Given the description of an element on the screen output the (x, y) to click on. 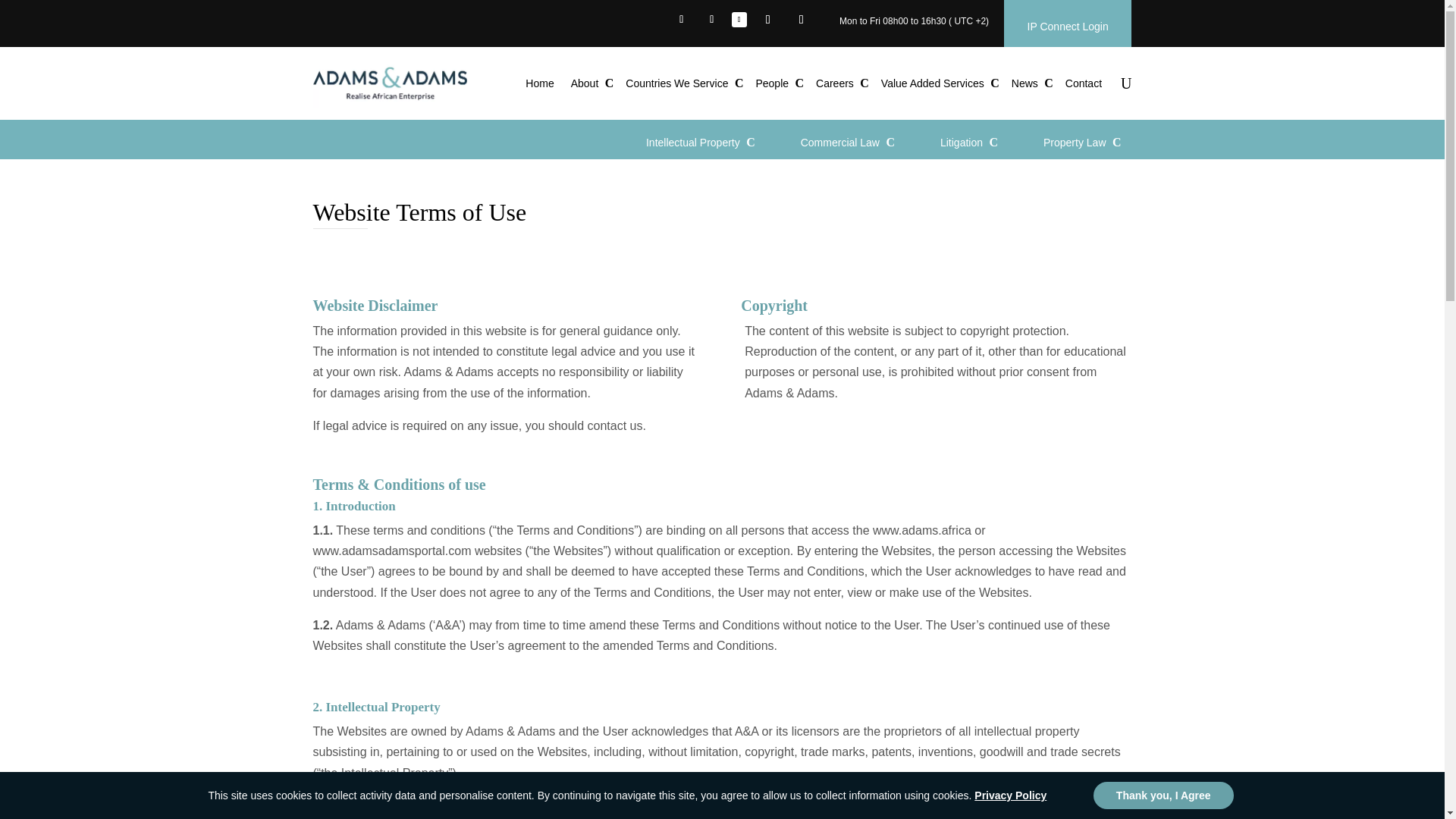
Follow on X (711, 19)
Follow on Facebook (682, 19)
Follow on Youtube (767, 19)
Value Added Services (937, 83)
People (777, 83)
Countries We Service (681, 83)
IP Connect Login (1068, 26)
Follow on Instagram (801, 19)
Careers (839, 83)
Follow on LinkedIn (739, 19)
